Given the description of an element on the screen output the (x, y) to click on. 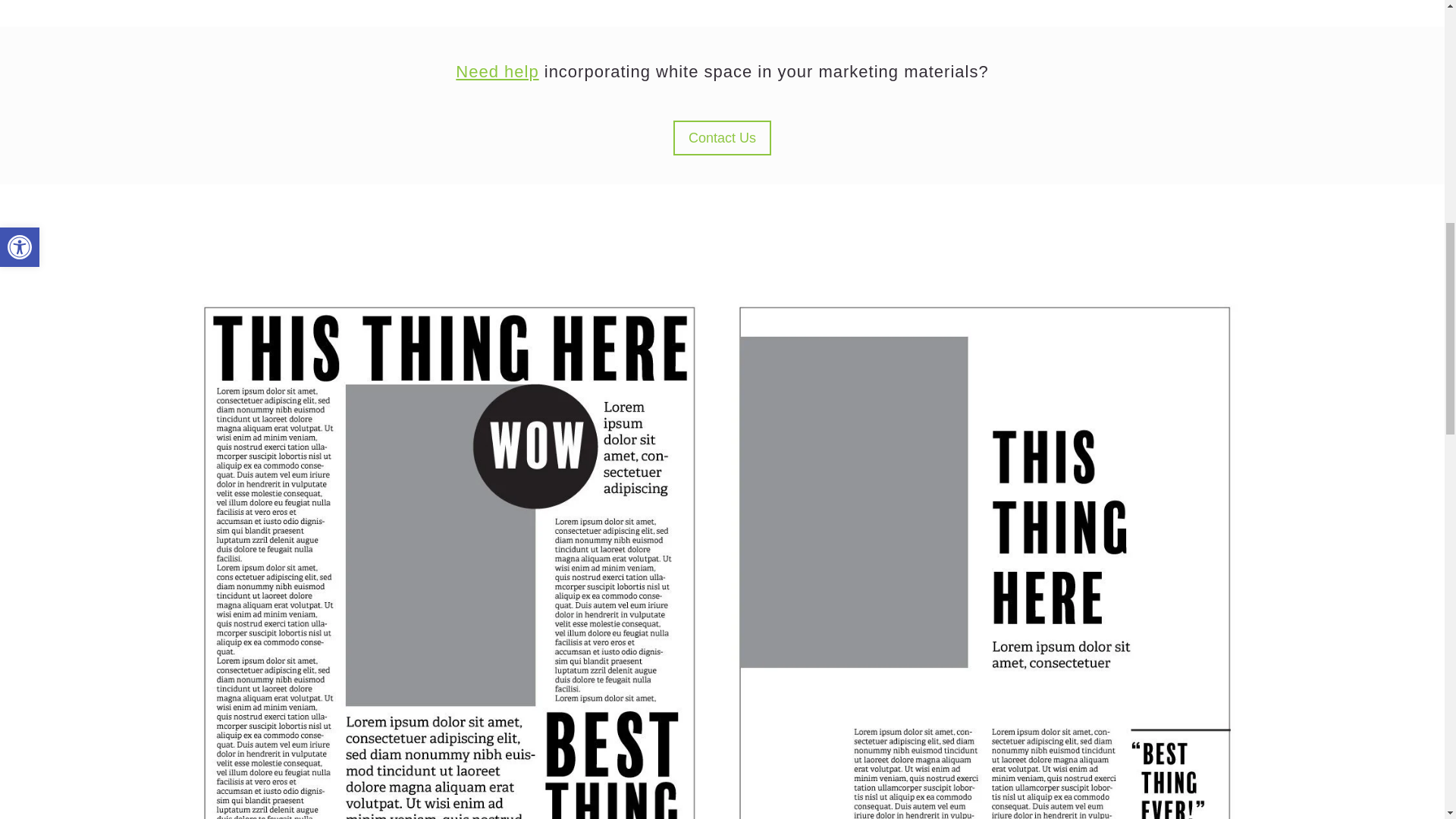
Contact Us (721, 137)
